Given the description of an element on the screen output the (x, y) to click on. 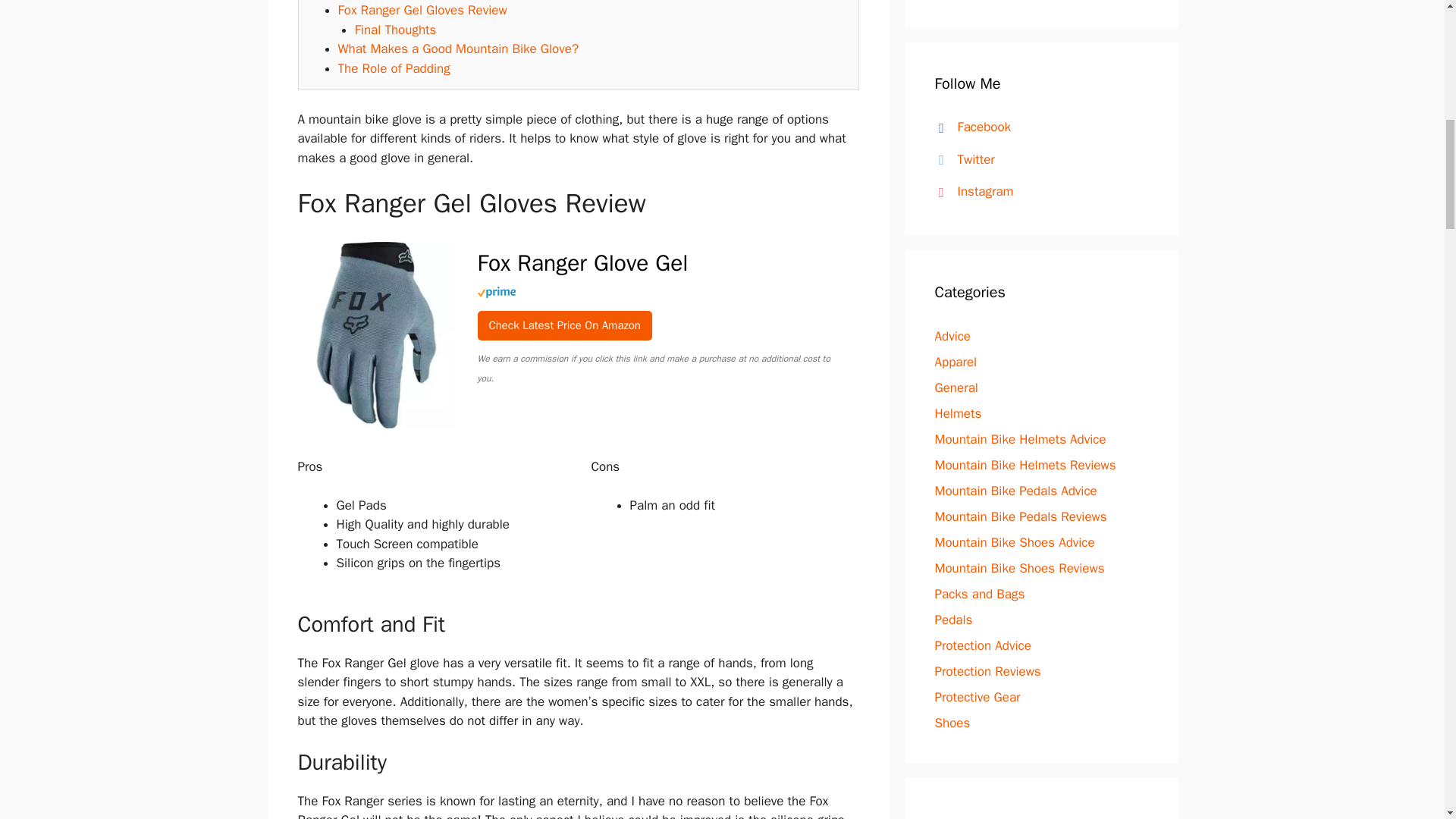
Mountain Bike Helmets Reviews (1024, 465)
Advice (952, 335)
Fox Ranger Glove Gel (662, 263)
Twitter (961, 159)
Fox Ranger Glove Gel (375, 427)
Apparel (955, 361)
Facebook (969, 126)
Fox Ranger Gel Gloves Review (421, 10)
Instagram (970, 191)
Twitter (961, 159)
The Role of Padding (393, 68)
Final Thoughts (395, 29)
Instagram (970, 191)
Helmets (957, 413)
Fox Ranger Glove Gel (564, 325)
